Given the description of an element on the screen output the (x, y) to click on. 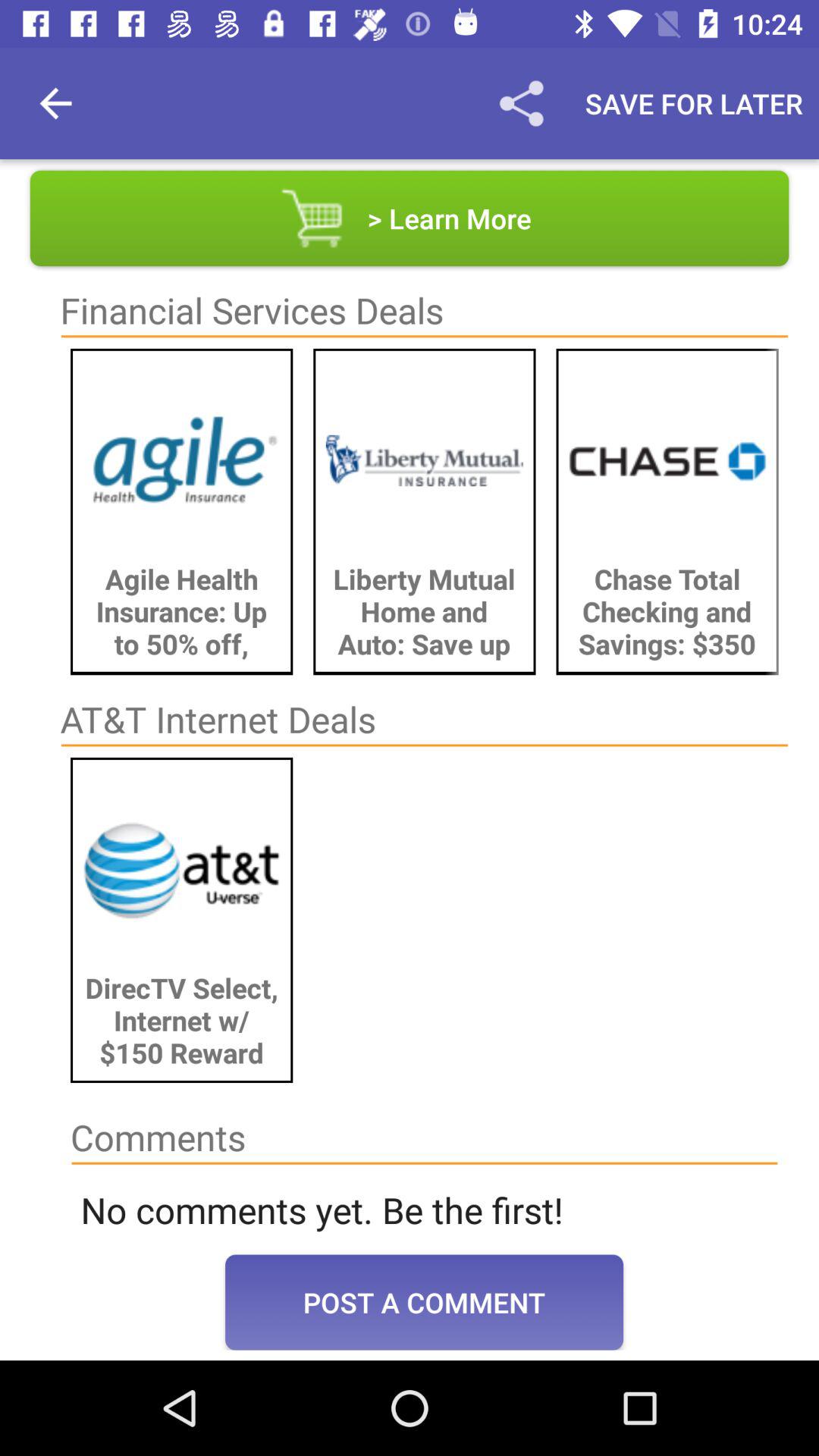
scroll until save for later icon (694, 103)
